Given the description of an element on the screen output the (x, y) to click on. 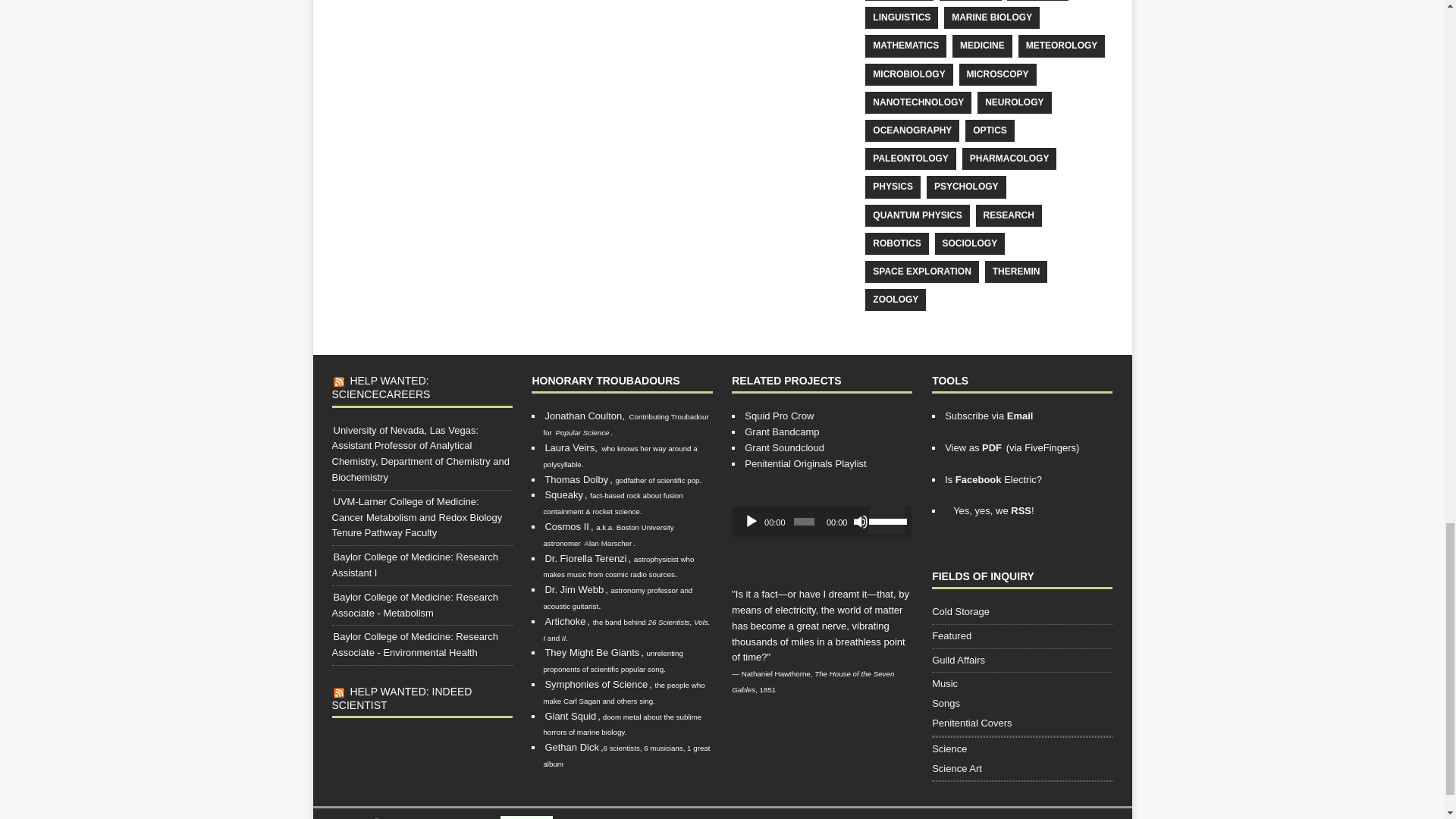
Mute (860, 521)
Play (751, 521)
